Given the description of an element on the screen output the (x, y) to click on. 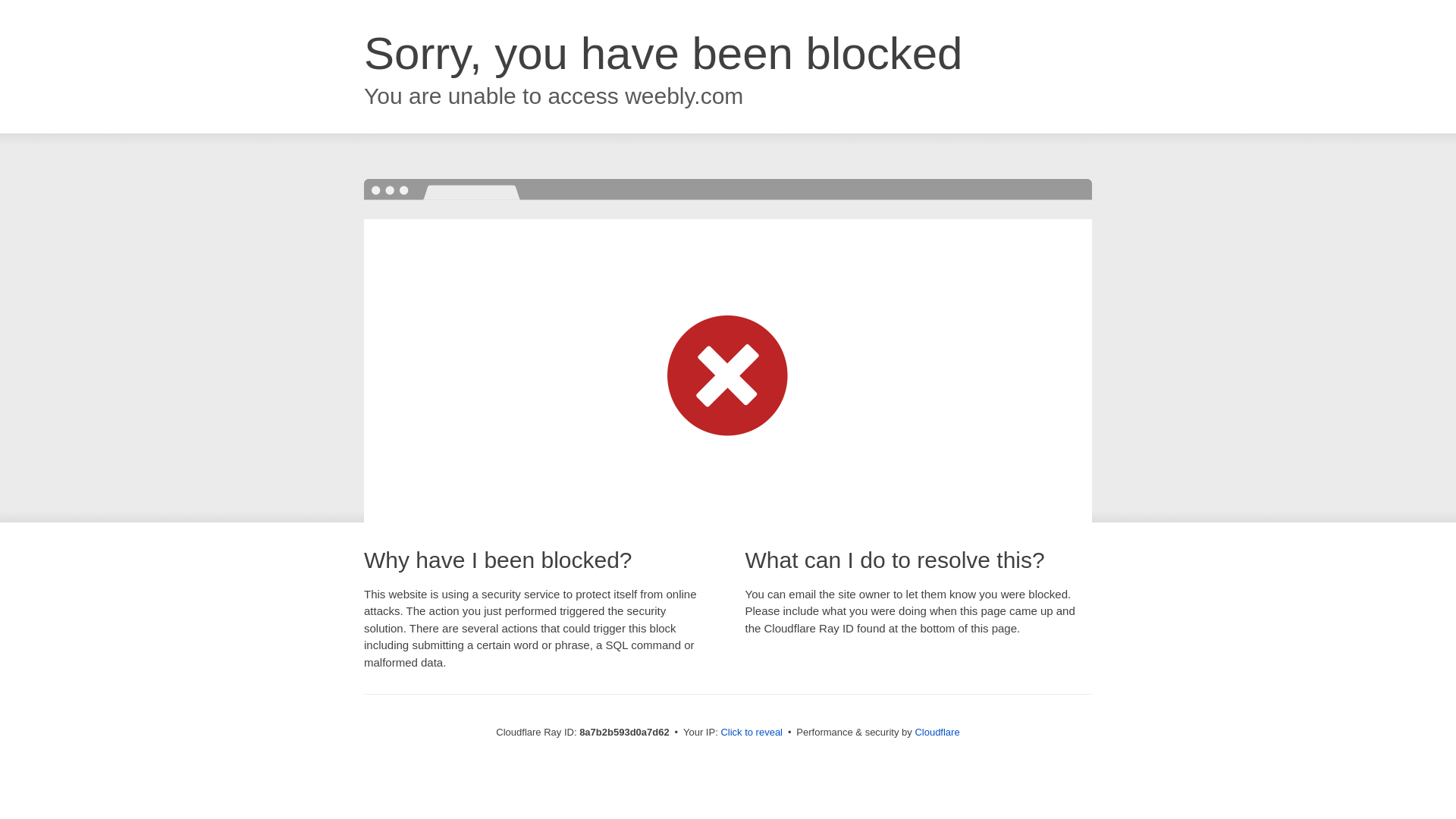
Cloudflare (936, 731)
Click to reveal (751, 732)
